Given the description of an element on the screen output the (x, y) to click on. 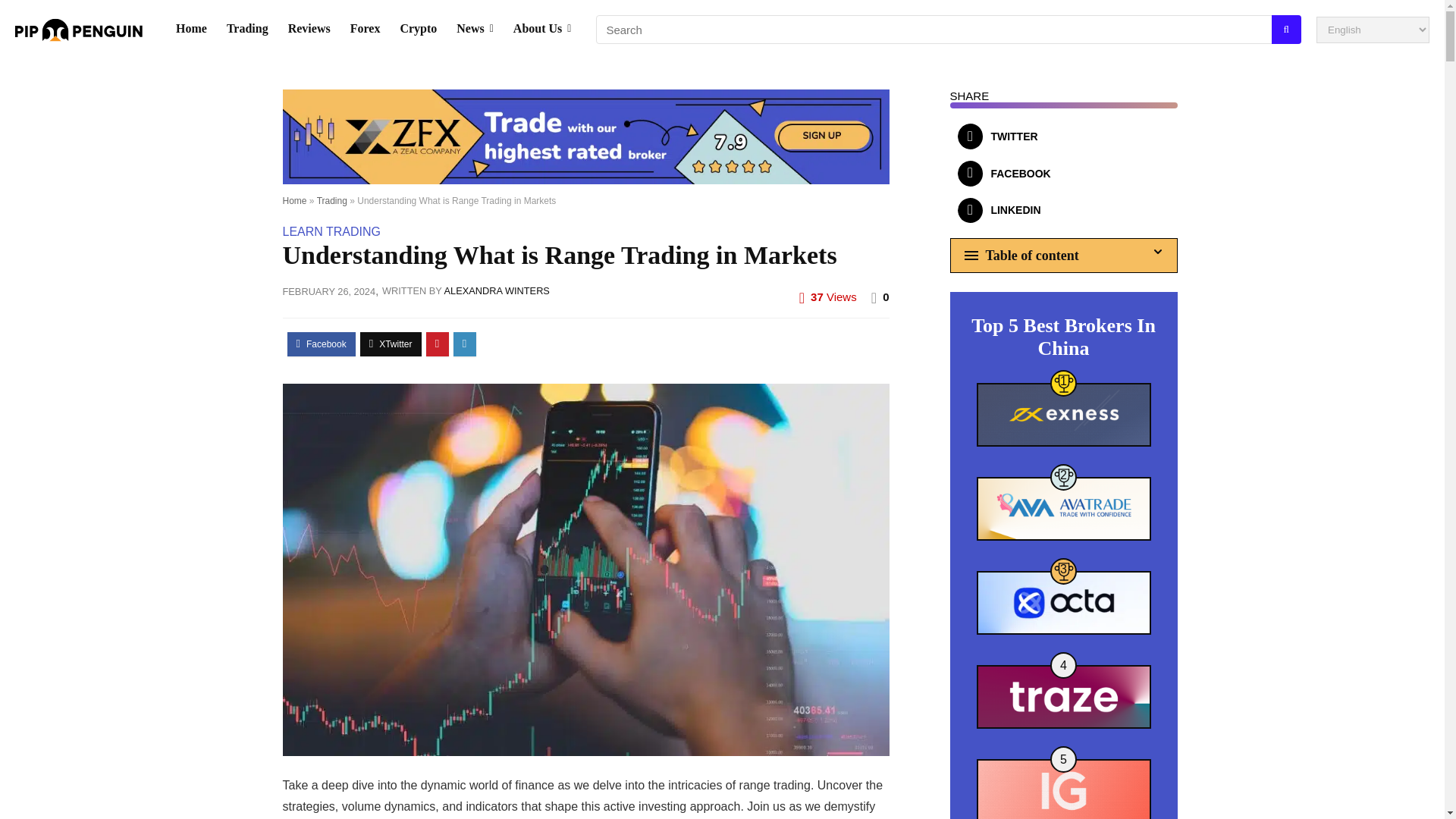
LEARN TRADING (331, 231)
Trading (332, 200)
3 (1063, 602)
0 (885, 296)
4 (1063, 696)
2 (1063, 508)
1 (1063, 414)
About Us (541, 29)
Trading (247, 29)
Home (293, 200)
Crypto (418, 29)
News (474, 29)
Reviews (309, 29)
Home (190, 29)
Forex (365, 29)
